Given the description of an element on the screen output the (x, y) to click on. 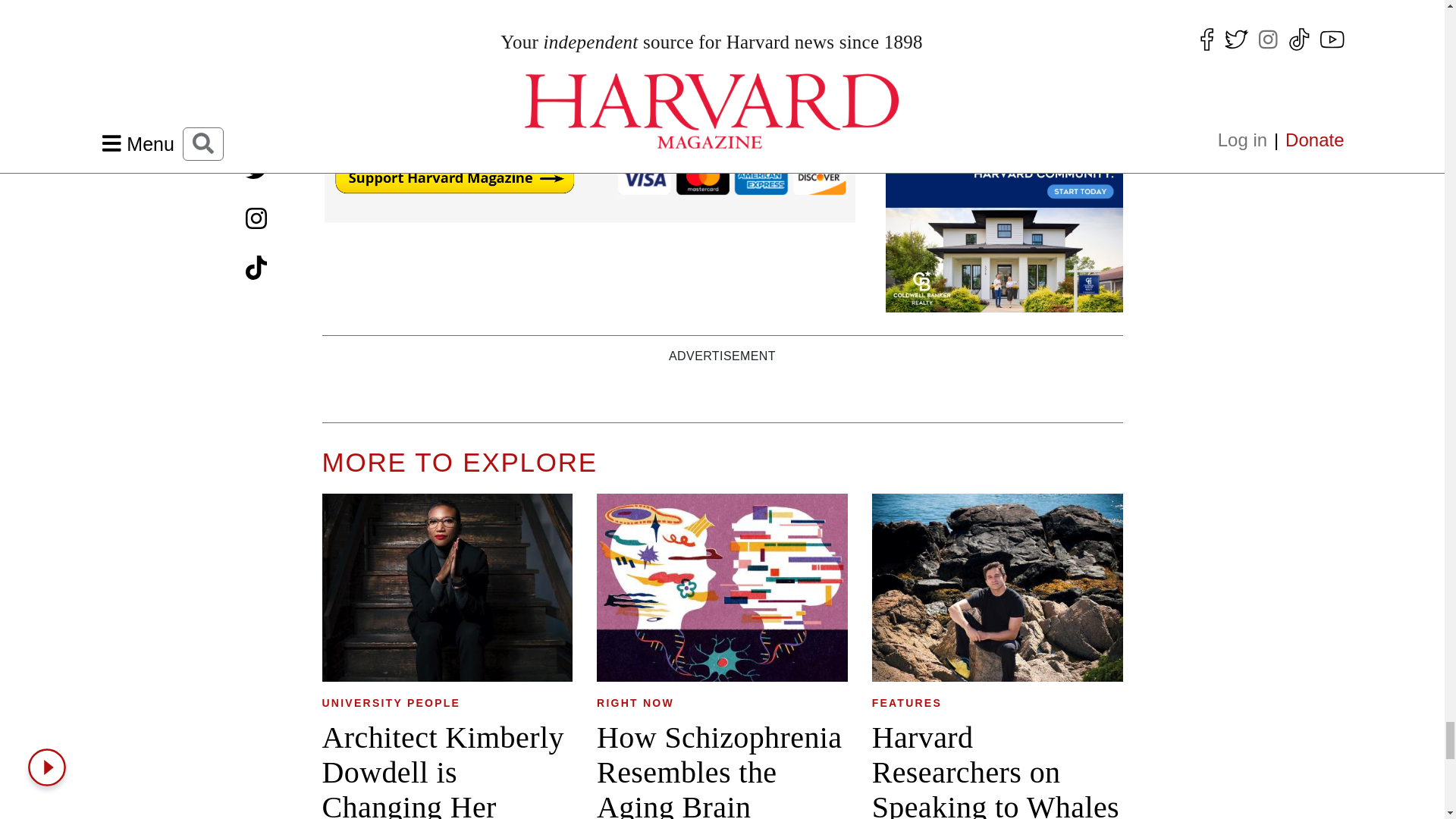
35 year legacy with the Harvard community. (1003, 194)
